Given the description of an element on the screen output the (x, y) to click on. 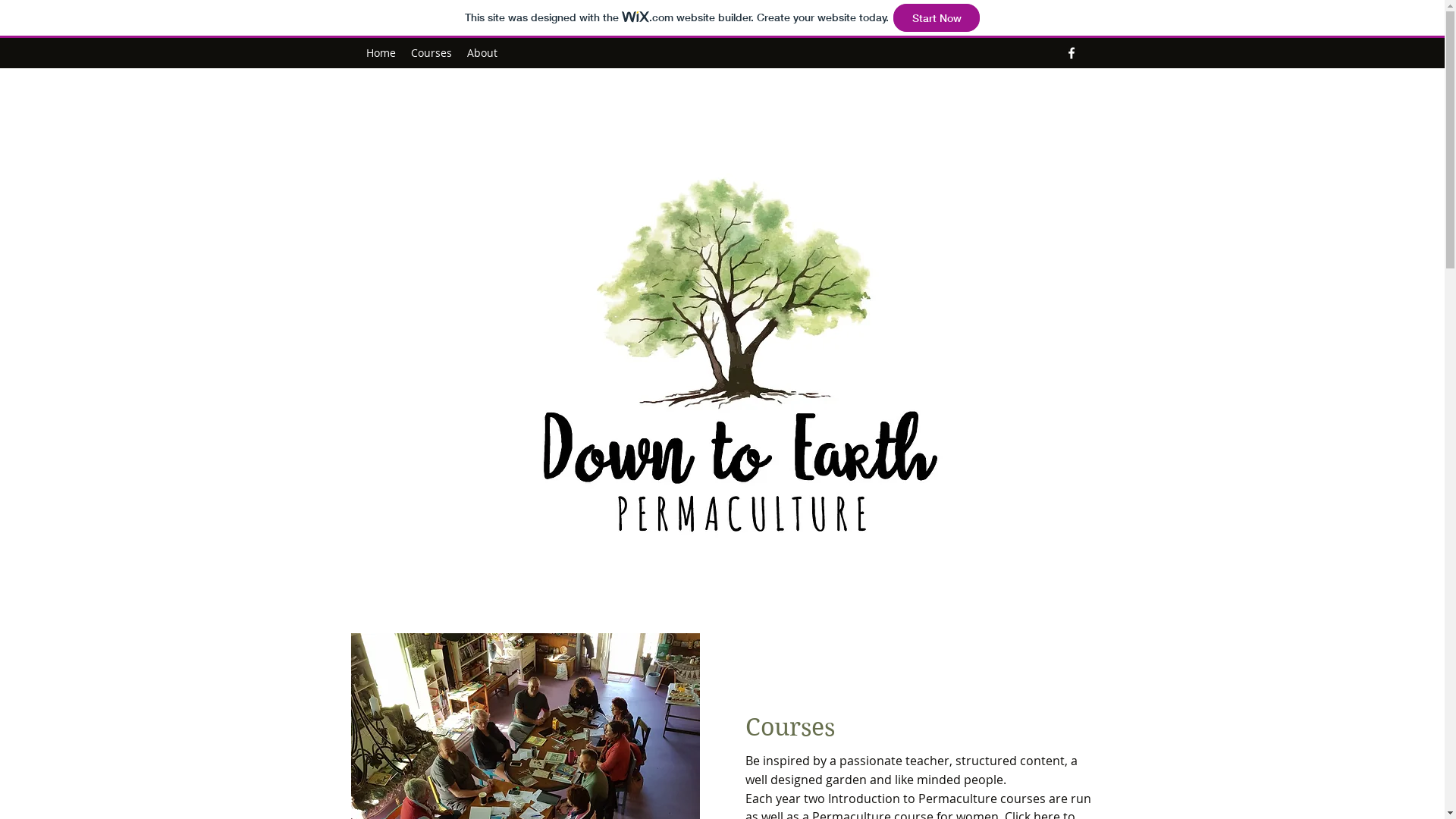
About Element type: text (482, 52)
Courses Element type: text (431, 52)
Home Element type: text (379, 52)
